Given the description of an element on the screen output the (x, y) to click on. 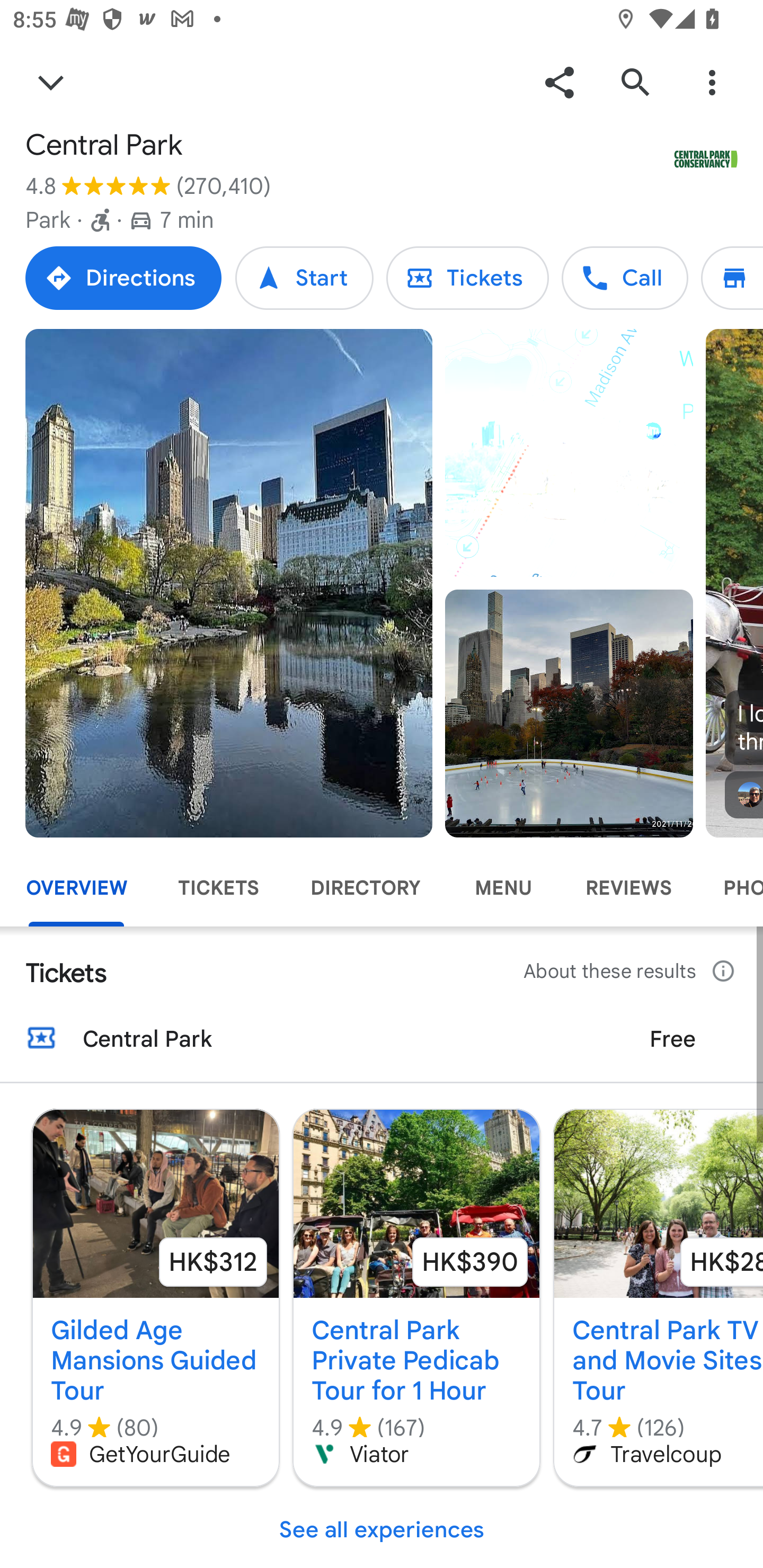
Back to Search (50, 81)
Share (559, 81)
Search (635, 81)
More options for Central Park (711, 81)
Start Start Start (304, 277)
Tickets (467, 277)
Call Central Park Call Call Central Park (624, 277)
Directory Directory Directory (732, 277)
Photo (228, 583)
Video (568, 453)
Photo (568, 713)
TICKETS Tickets (218, 887)
DIRECTORY Directory (364, 887)
MENU Menu (502, 887)
REVIEWS Reviews (628, 887)
About these results (630, 970)
